Given the description of an element on the screen output the (x, y) to click on. 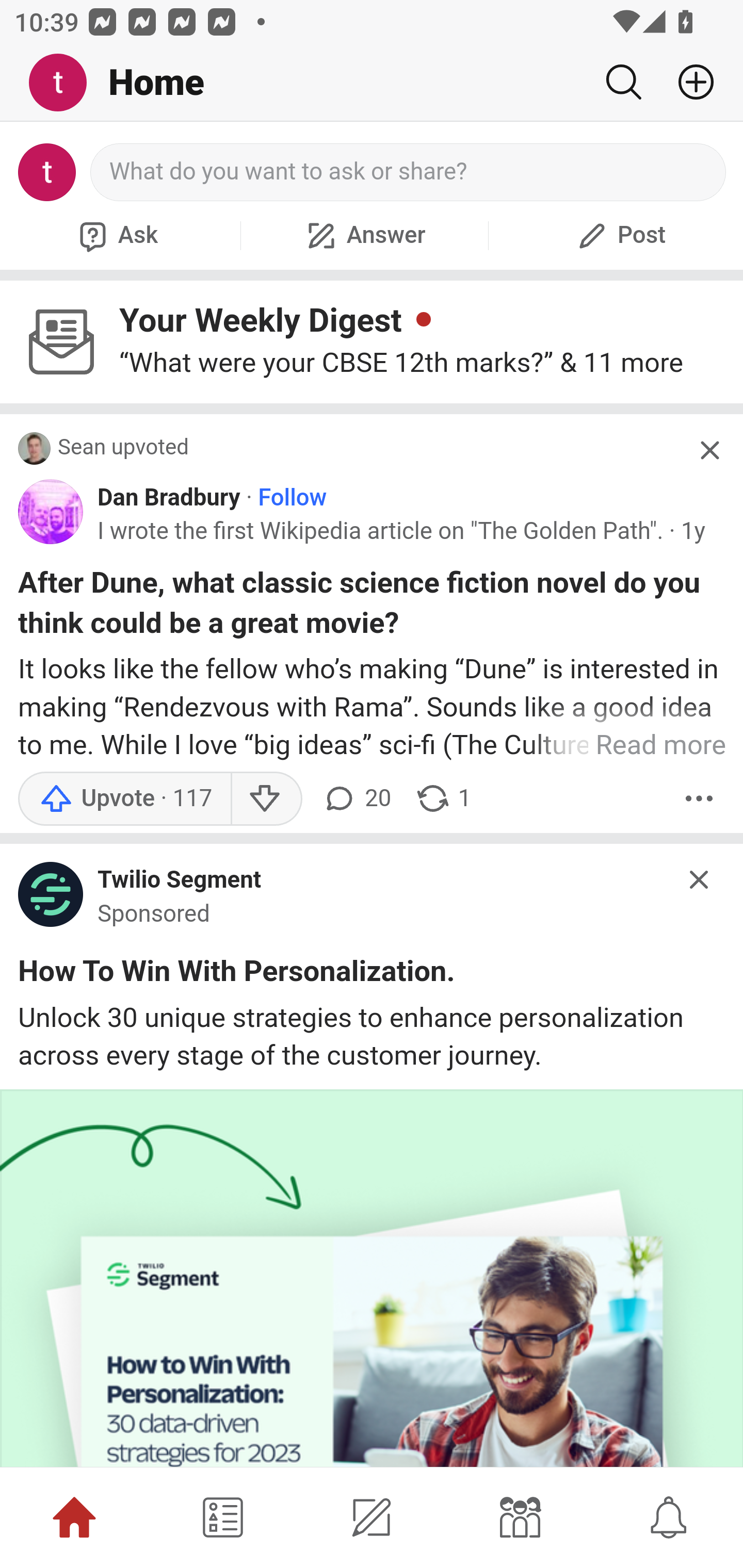
Me Home Search Add (371, 82)
Me (64, 83)
Search (623, 82)
Add (688, 82)
